Given the description of an element on the screen output the (x, y) to click on. 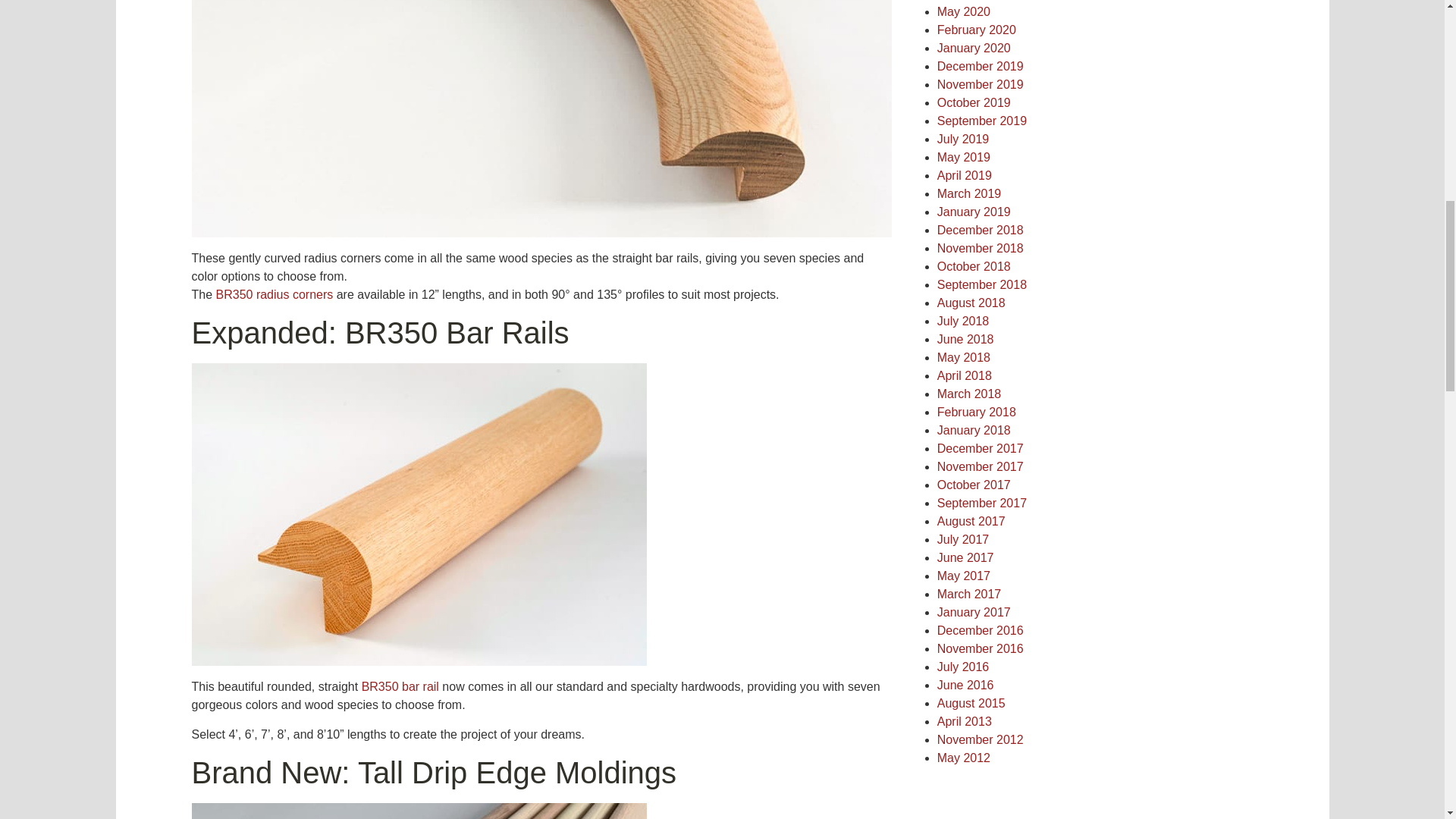
BR350 Bar Rail at Hardwoods Inc (400, 686)
BR350 radius corners (274, 294)
BR350 Radius Corner Bar Rail (274, 294)
BR350 bar rail (400, 686)
